Given the description of an element on the screen output the (x, y) to click on. 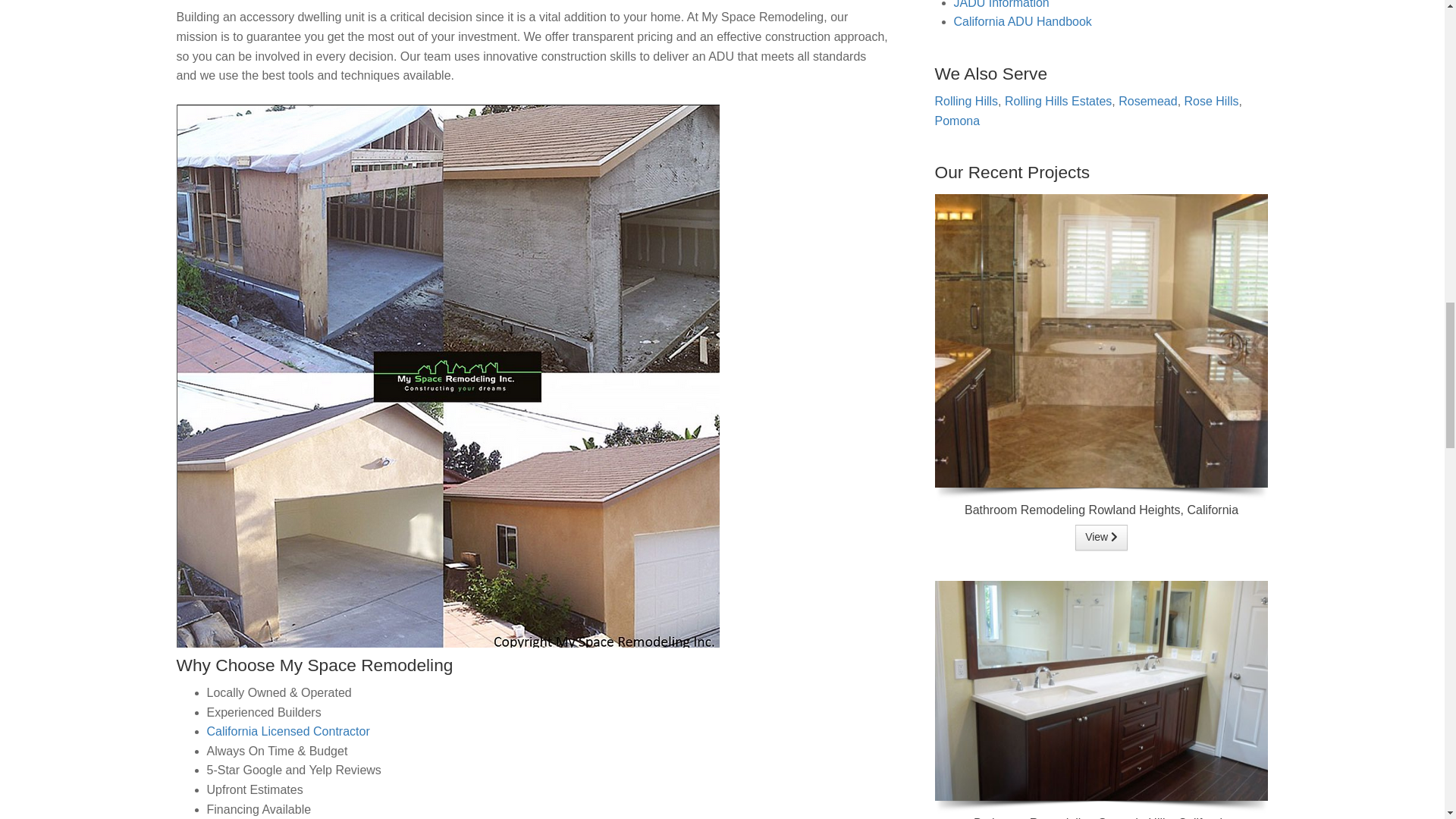
Rose Hills (1212, 101)
Rosemead (1147, 101)
JADU Information (1001, 4)
Bathroom Remodeling Rowland Heights, California (1100, 537)
California Licensed Contractor (287, 730)
Rolling Hills (965, 101)
Pomona (956, 120)
Bathroom Remodeling Rowland Heights, California (1101, 339)
California ADU Handbook (1022, 21)
Bathroom Remodeling Granada Hills, California (1101, 689)
